Given the description of an element on the screen output the (x, y) to click on. 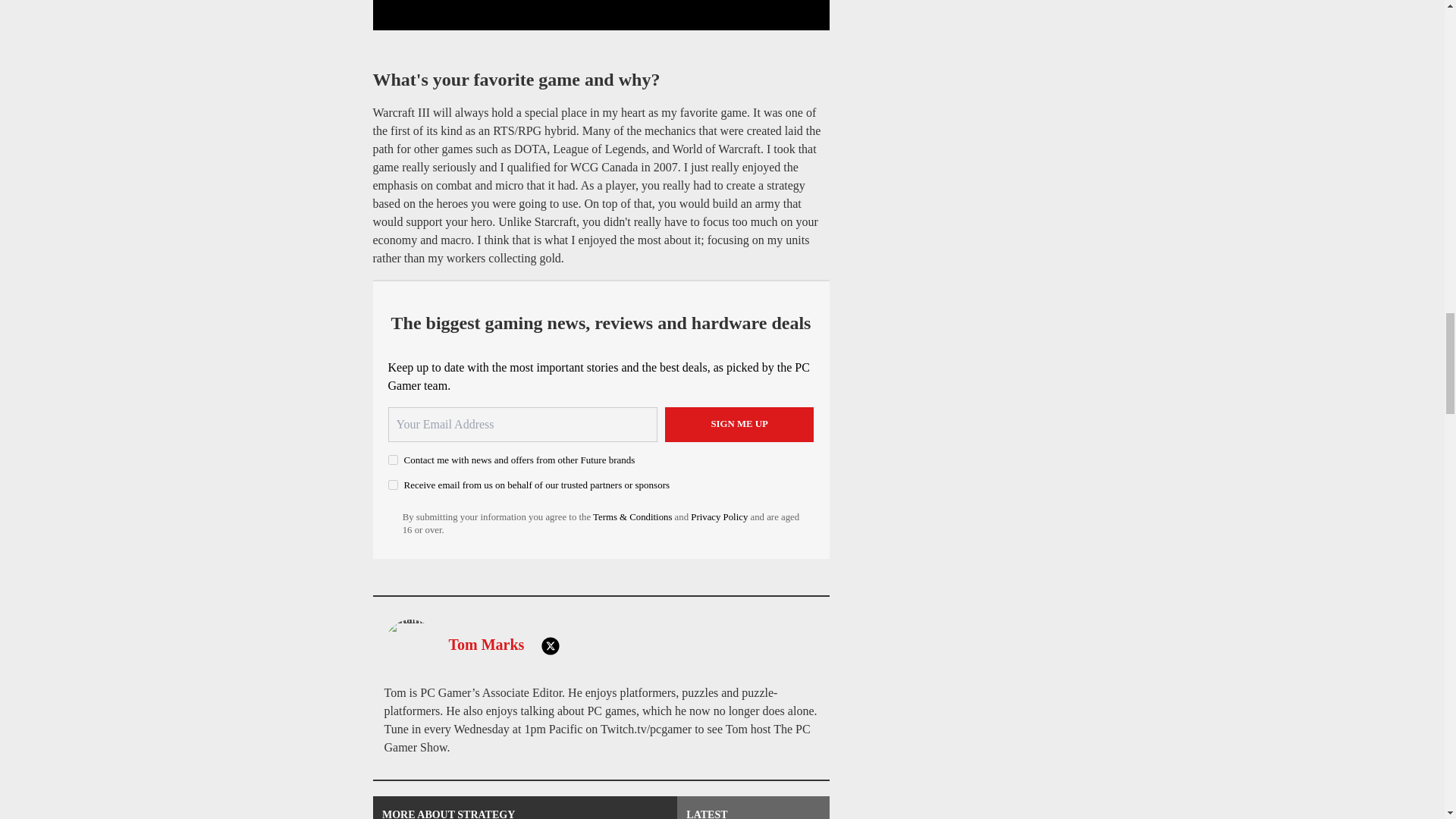
on (392, 484)
on (392, 460)
Sign me up (739, 424)
